Given the description of an element on the screen output the (x, y) to click on. 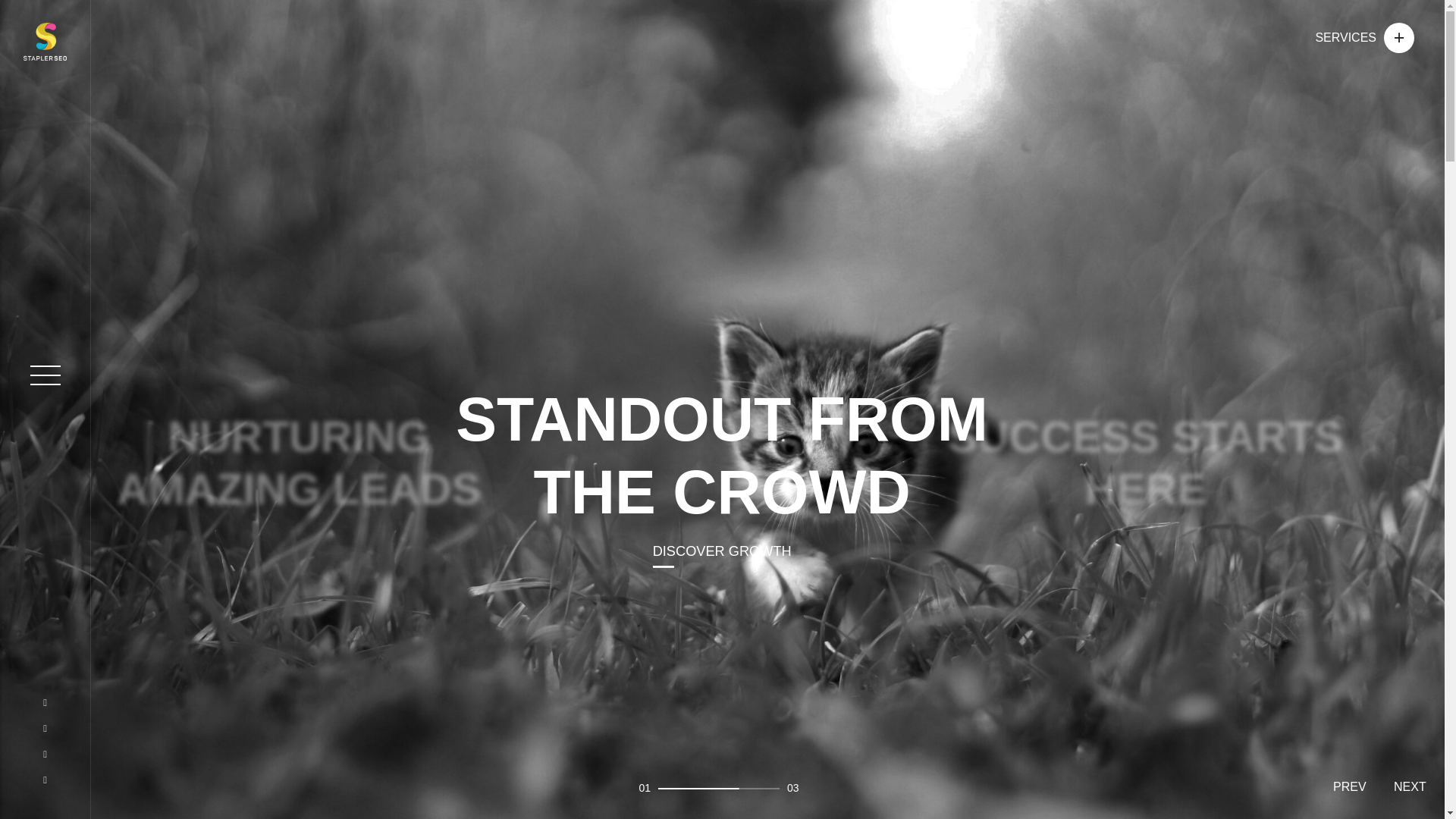
DISCOVER GROWTH (702, 550)
